Given the description of an element on the screen output the (x, y) to click on. 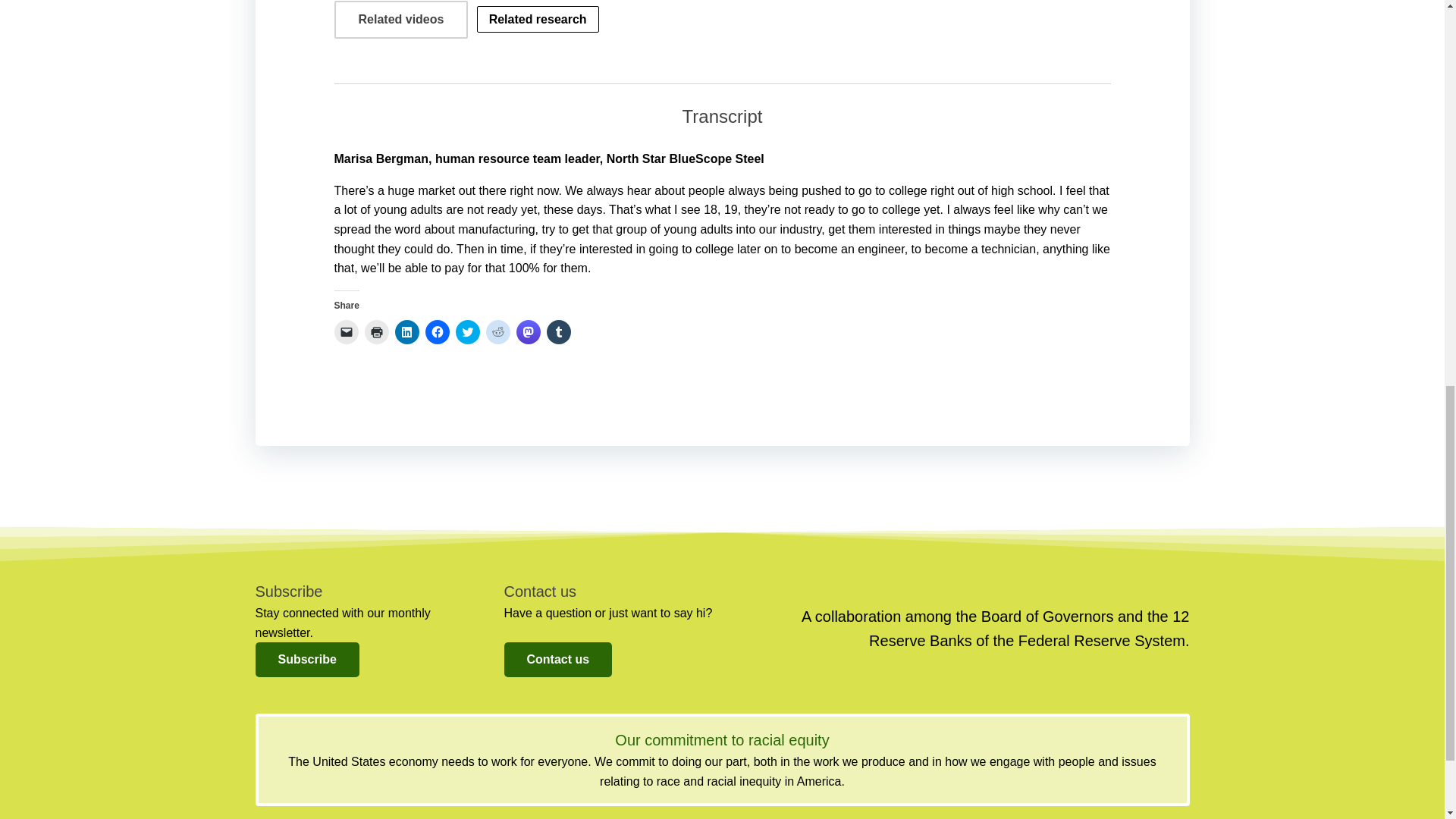
Click to share on Twitter (466, 331)
Click to share on LinkedIn (406, 331)
Click to share on Facebook (436, 331)
Click to email a link to a friend (345, 331)
Click to share on Mastodon (527, 331)
Click to share on Reddit (496, 331)
Click to print (376, 331)
Click to share on Tumblr (558, 331)
